Given the description of an element on the screen output the (x, y) to click on. 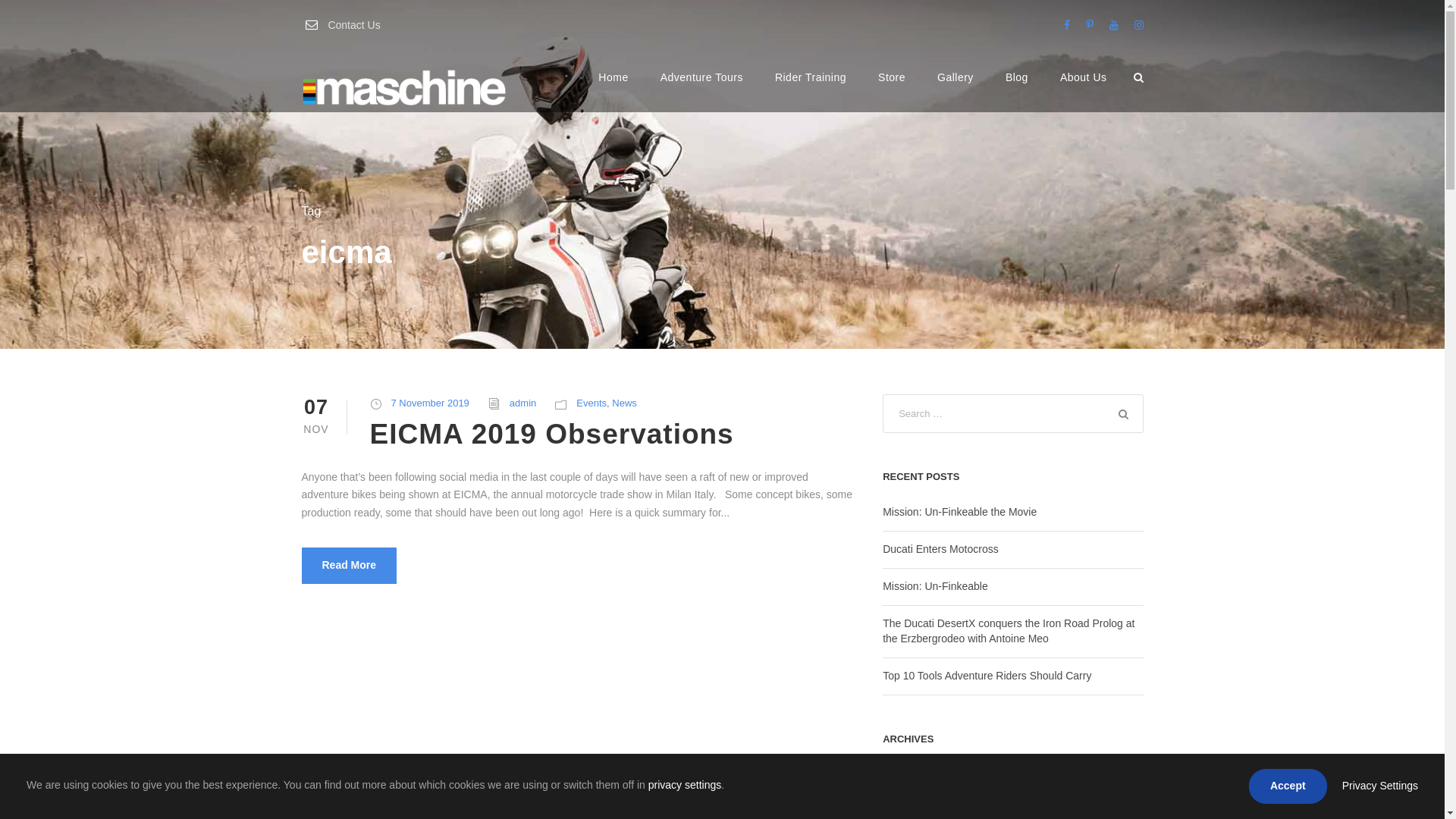
Mission: Un-Finkeable Element type: text (935, 586)
Home Element type: text (612, 90)
Privacy Settings Element type: text (1380, 785)
admin Element type: text (522, 402)
pinterest Element type: hover (1089, 24)
Mission: Un-Finkeable the Movie Element type: text (959, 511)
privacy settings Element type: text (684, 784)
October 2023 Element type: text (914, 811)
News Element type: text (624, 402)
youtube Element type: hover (1112, 24)
facebook Element type: hover (1066, 24)
instagram Element type: hover (1138, 24)
About Us Element type: text (1083, 90)
Ducati Enters Motocross Element type: text (940, 548)
EICMA 2019 Observations Element type: text (552, 433)
Top 10 Tools Adventure Riders Should Carry Element type: text (986, 675)
Adventure Tours Element type: text (701, 90)
7 November 2019 Element type: text (430, 402)
Rider Training Element type: text (810, 90)
Accept Element type: text (1287, 785)
Search Element type: text (1123, 413)
Gallery Element type: text (955, 90)
Blog Element type: text (1016, 90)
November 2023 Element type: text (920, 774)
Read More Element type: text (349, 565)
Maschine_site_logo_02062019 Element type: hover (403, 86)
Store Element type: text (891, 90)
Events Element type: text (591, 402)
